Given the description of an element on the screen output the (x, y) to click on. 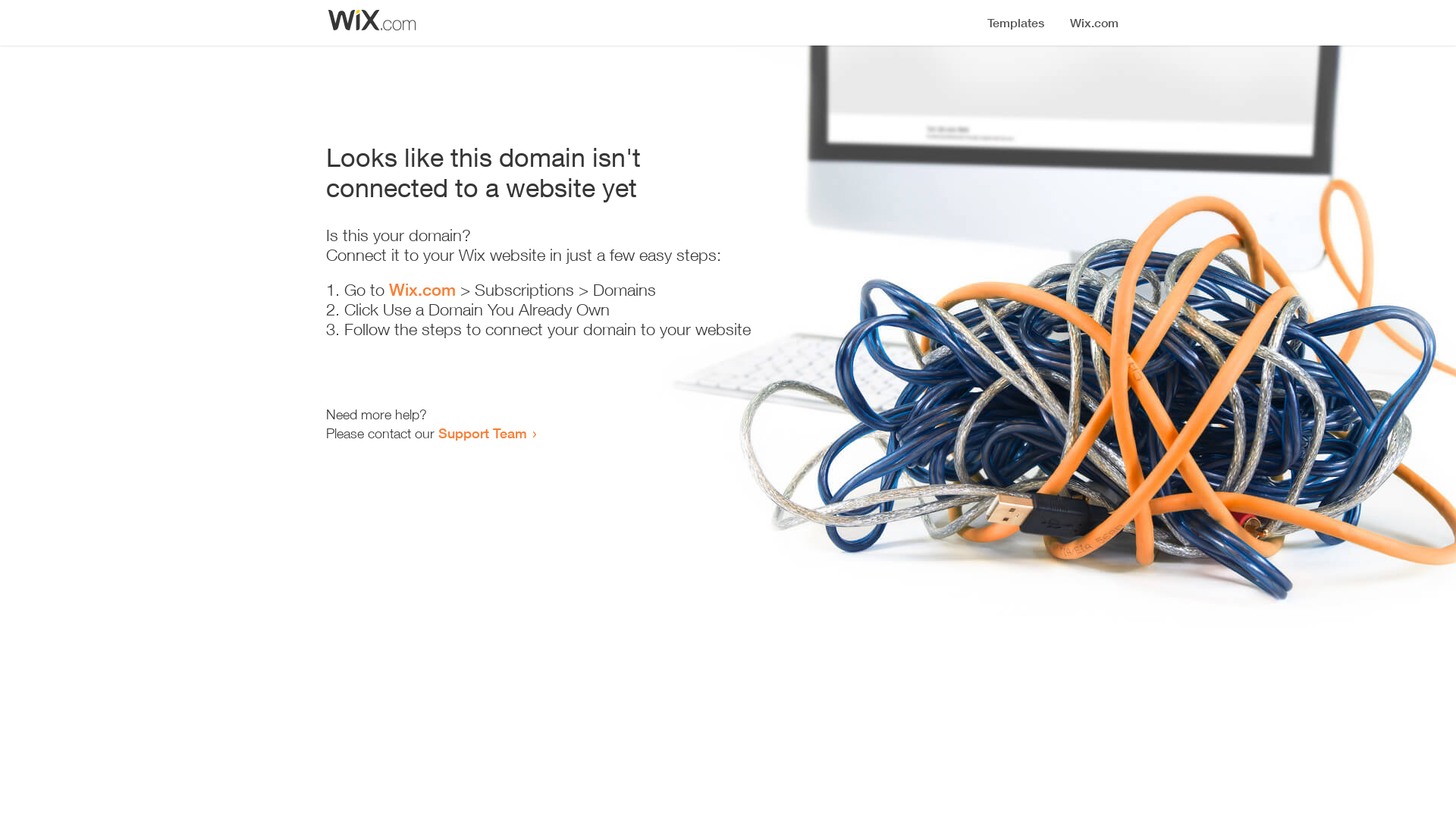
Support Team Element type: text (482, 432)
Wix.com Element type: text (422, 289)
